Given the description of an element on the screen output the (x, y) to click on. 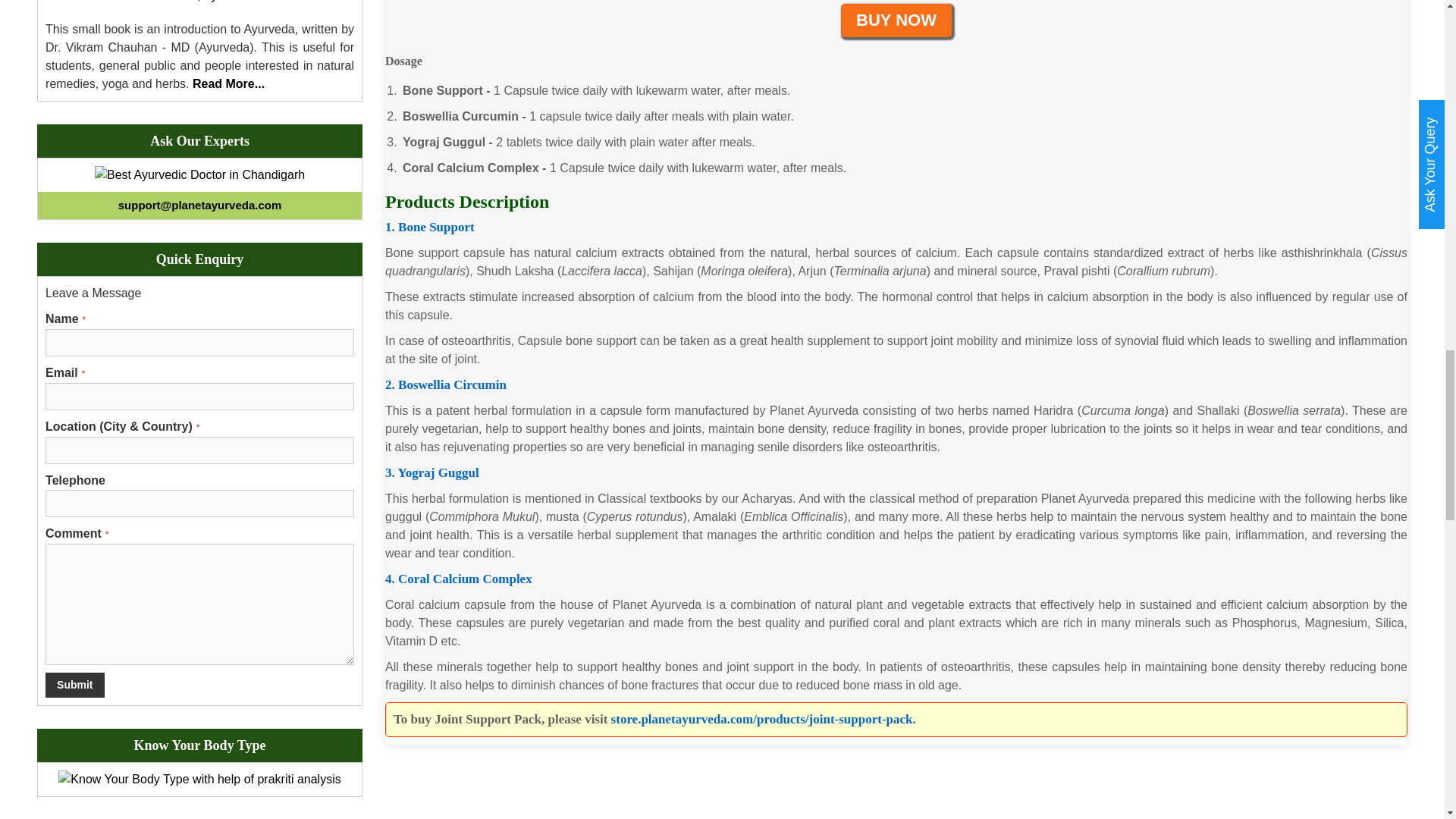
Submit (74, 684)
